Given the description of an element on the screen output the (x, y) to click on. 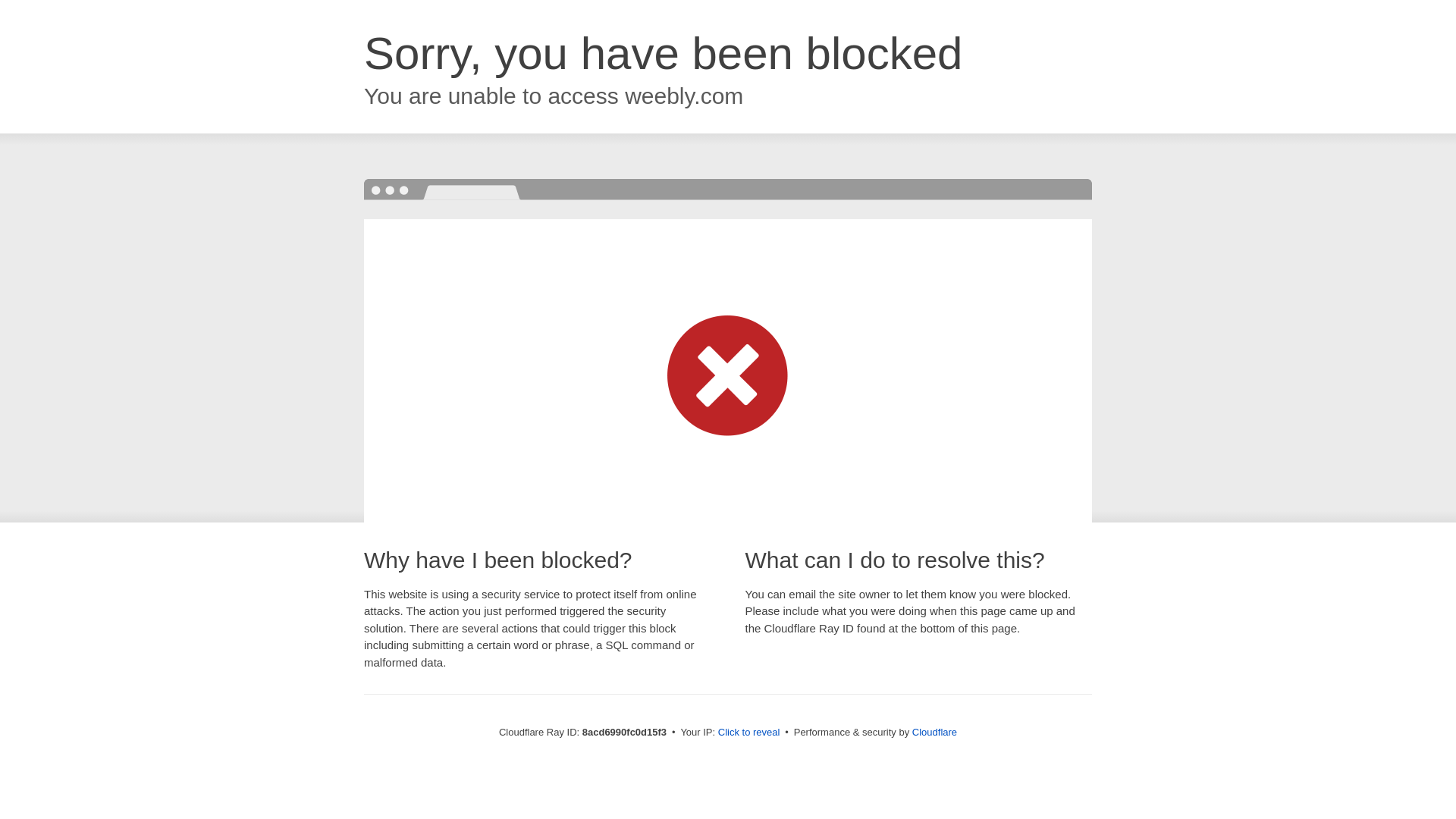
Click to reveal (748, 732)
Cloudflare (934, 731)
